Given the description of an element on the screen output the (x, y) to click on. 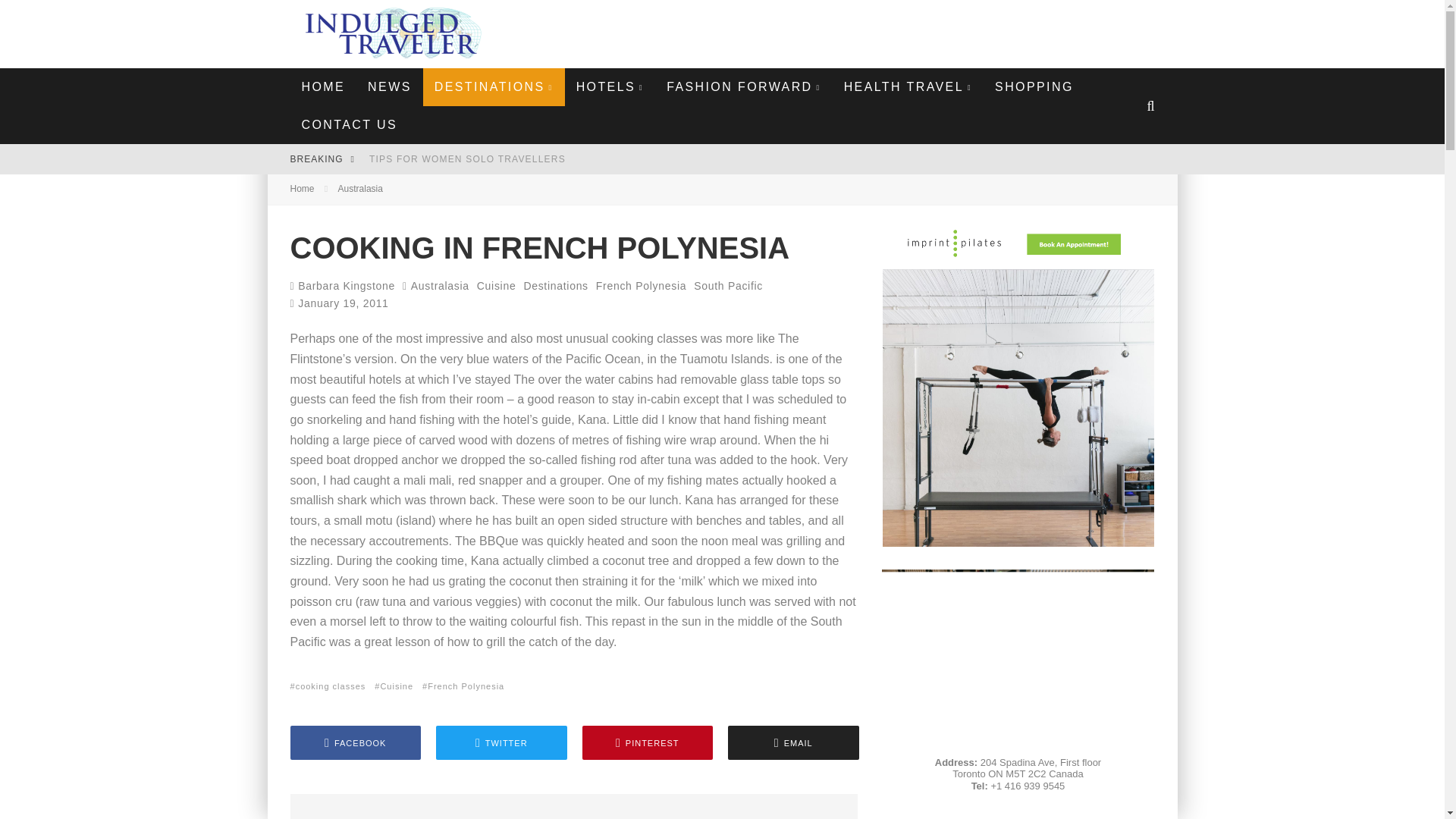
DESTINATIONS (493, 86)
Tips for Women Solo Travellers (467, 158)
HOME (322, 86)
NEWS (389, 86)
